Given the description of an element on the screen output the (x, y) to click on. 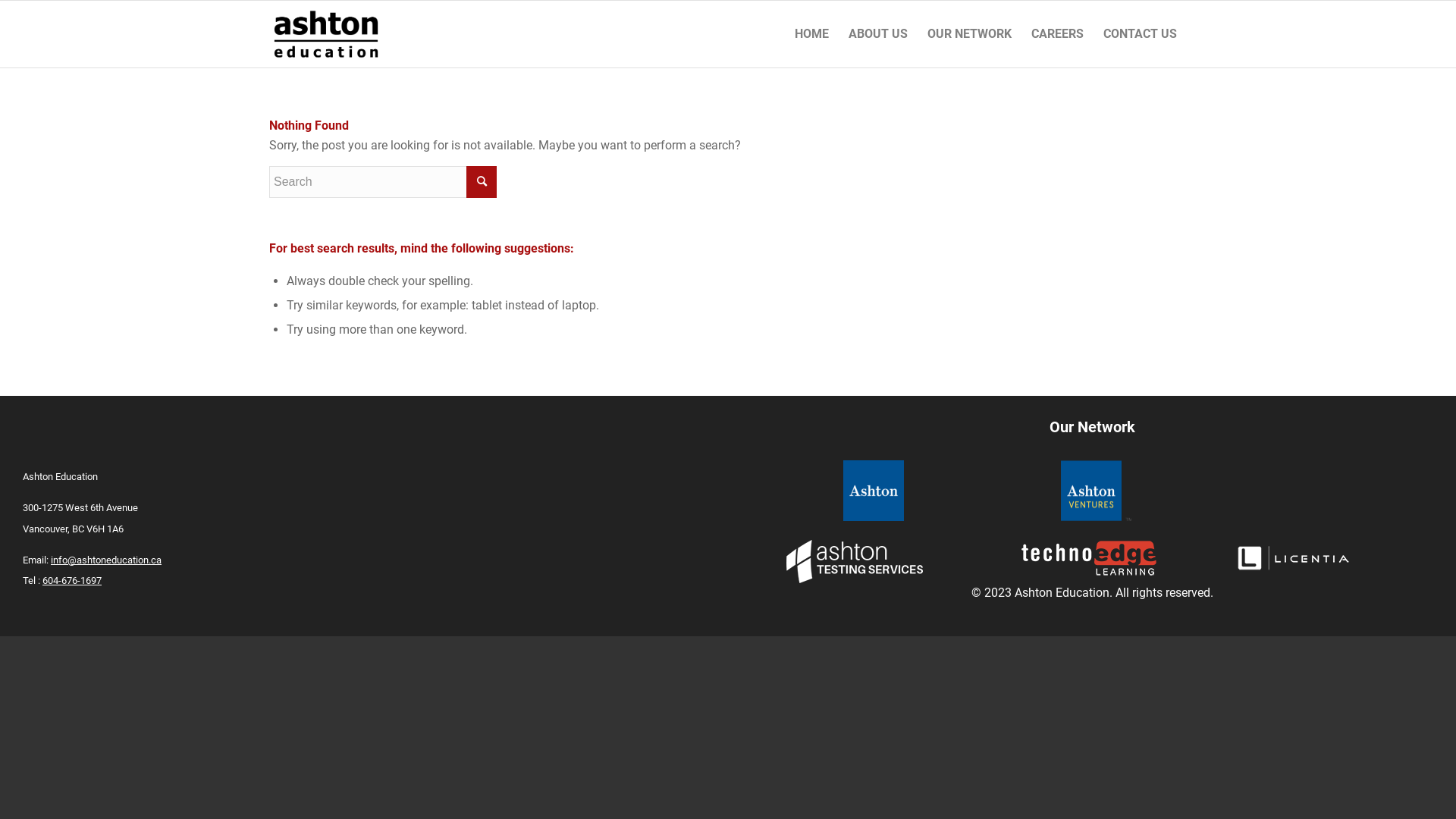
CAREERS Element type: text (1057, 33)
ashton logo black Element type: hover (325, 33)
ats_footer Element type: hover (854, 561)
HOME Element type: text (811, 33)
AC-logo_digital-80x80 Element type: hover (873, 490)
techno_footer Element type: hover (1088, 558)
OUR NETWORK Element type: text (969, 33)
licentia_footer Element type: hover (1292, 558)
ABOUT US Element type: text (877, 33)
AC Logo SVP (94 x 80) Element type: hover (1096, 490)
CONTACT US Element type: text (1139, 33)
info@ashtoneducation.ca Element type: text (105, 559)
604-676-1697 Element type: text (71, 580)
